Given the description of an element on the screen output the (x, y) to click on. 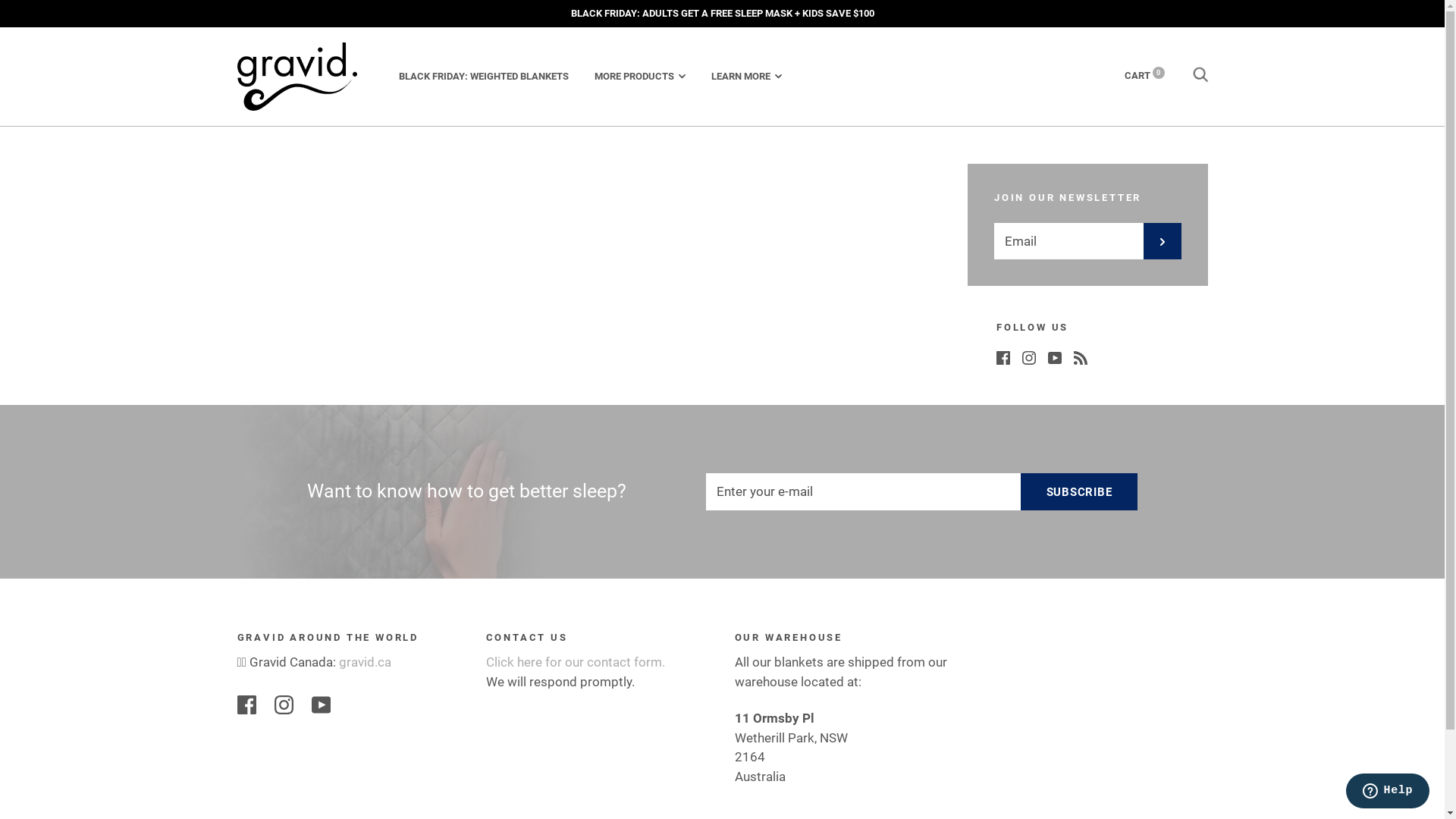
Subscribe Element type: text (1079, 491)
Instagram Element type: text (1028, 356)
RSS Element type: text (1080, 356)
Instagram Element type: text (283, 703)
LEARN MORE Element type: text (746, 75)
Facebook Element type: text (245, 703)
MORE PRODUCTS Element type: text (639, 75)
gravid.ca Element type: text (364, 661)
YouTube Element type: text (1054, 356)
YouTube Element type: text (319, 703)
Opens a widget where you can chat to one of our agents Element type: hover (1387, 792)
BLACK FRIDAY: WEIGHTED BLANKETS Element type: text (483, 75)
Click here for our contact form. Element type: text (574, 661)
BLACK FRIDAY: ADULTS GET A FREE SLEEP MASK + KIDS SAVE $100 Element type: text (722, 13)
Facebook Element type: text (1003, 356)
CART 0 Element type: text (1143, 75)
